Given the description of an element on the screen output the (x, y) to click on. 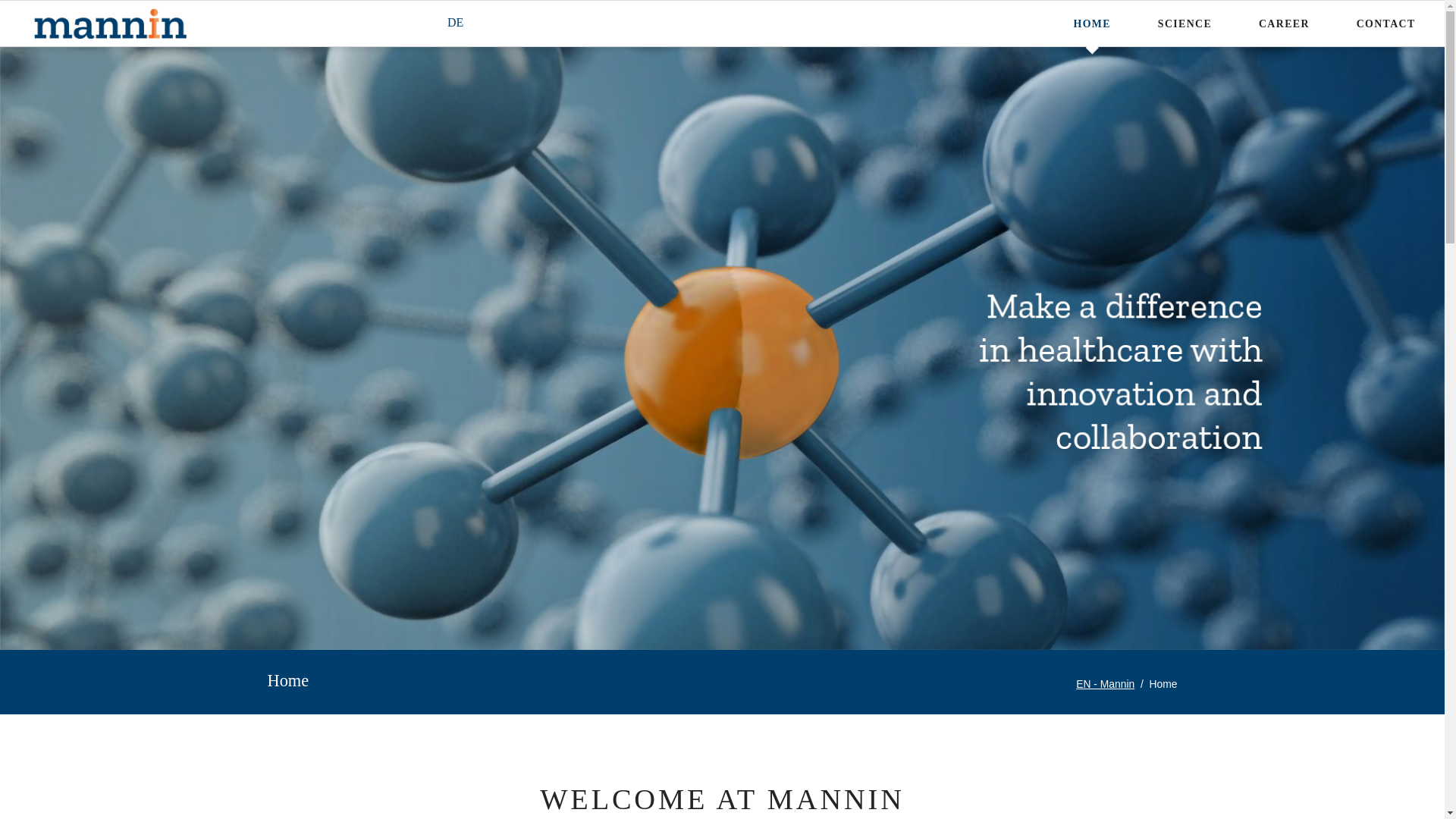
SCIENCE (1185, 22)
DE (454, 21)
CAREER (1283, 22)
Career (1283, 22)
EN - Mannin (1104, 684)
Home (454, 21)
Contact (1385, 22)
Science (1185, 22)
Mannin GmbH (1104, 684)
